Given the description of an element on the screen output the (x, y) to click on. 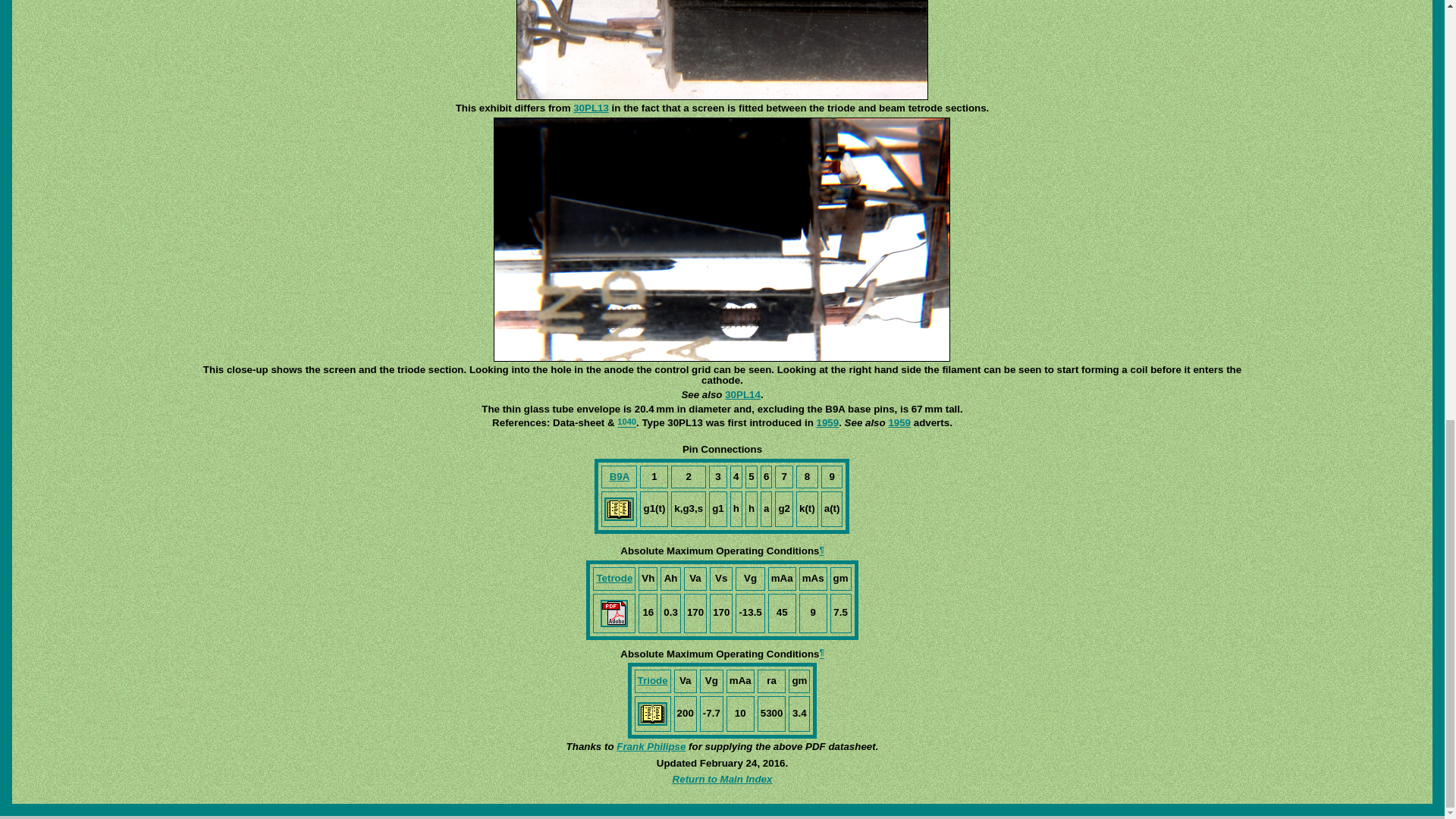
1959 (828, 422)
B9A (620, 476)
Triode (652, 680)
1959 (899, 422)
Return to Main Index (722, 778)
Frank Philipse (650, 746)
30PL14 (742, 394)
30PL13 (590, 107)
Tetrode (613, 577)
1040 (626, 422)
